Given the description of an element on the screen output the (x, y) to click on. 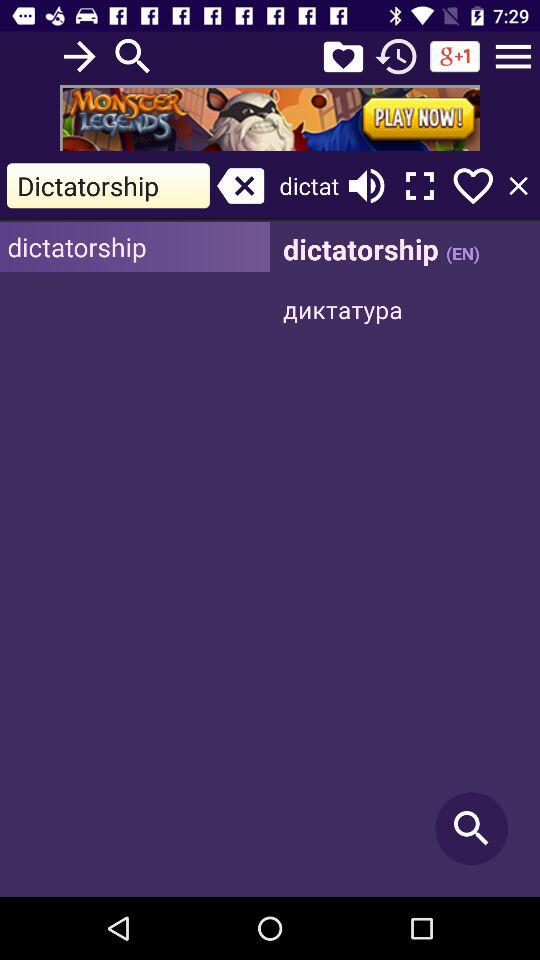
go back (396, 56)
